Given the description of an element on the screen output the (x, y) to click on. 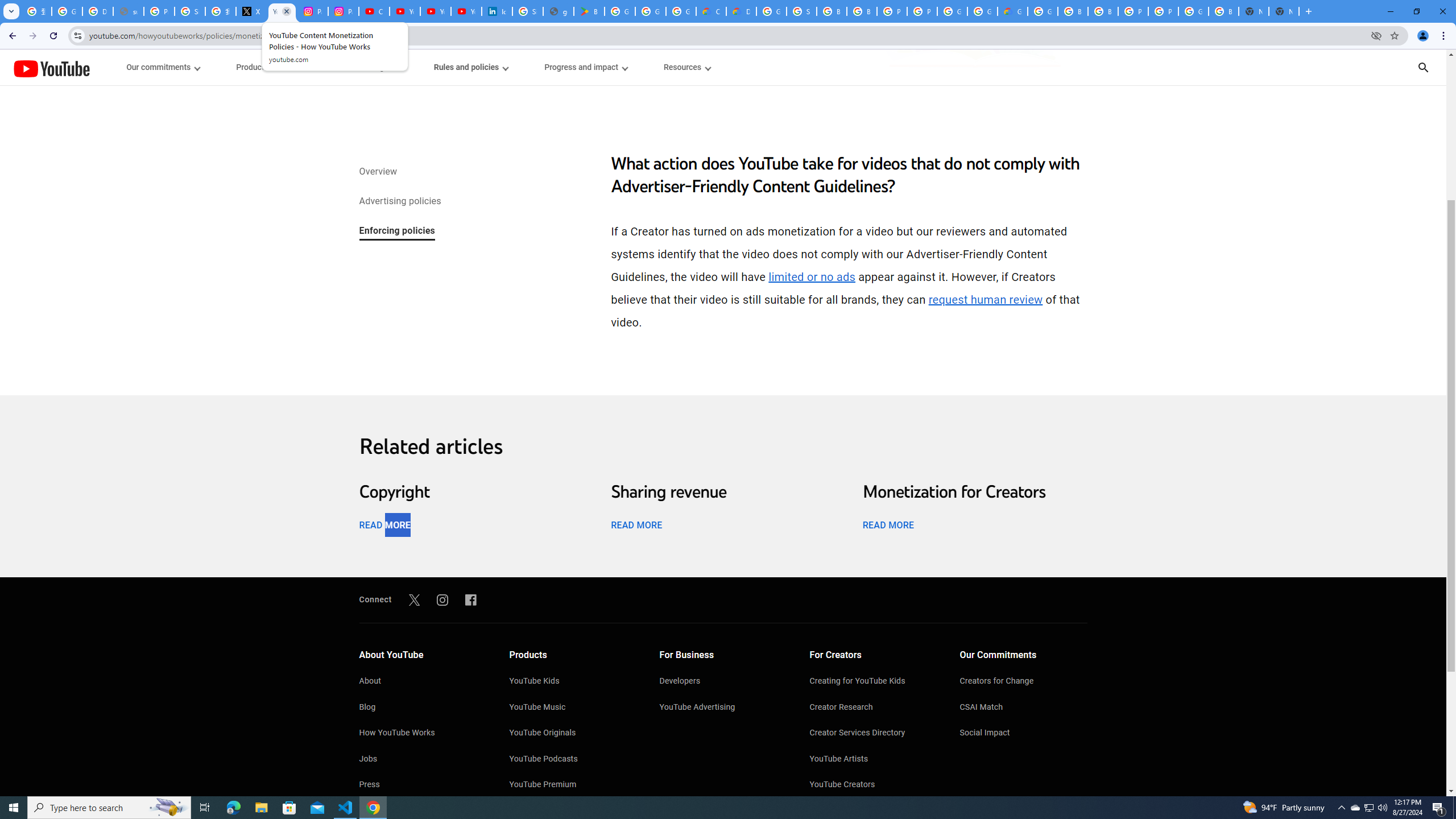
Creators for Change (1023, 682)
How YouTube Works (422, 733)
Customer Care | Google Cloud (710, 11)
YouTube Originals (573, 733)
google_privacy_policy_en.pdf (558, 11)
Browse Chrome as a guest - Computer - Google Chrome Help (830, 11)
YouTube Music (573, 708)
Browse Chrome as a guest - Computer - Google Chrome Help (1072, 11)
